Given the description of an element on the screen output the (x, y) to click on. 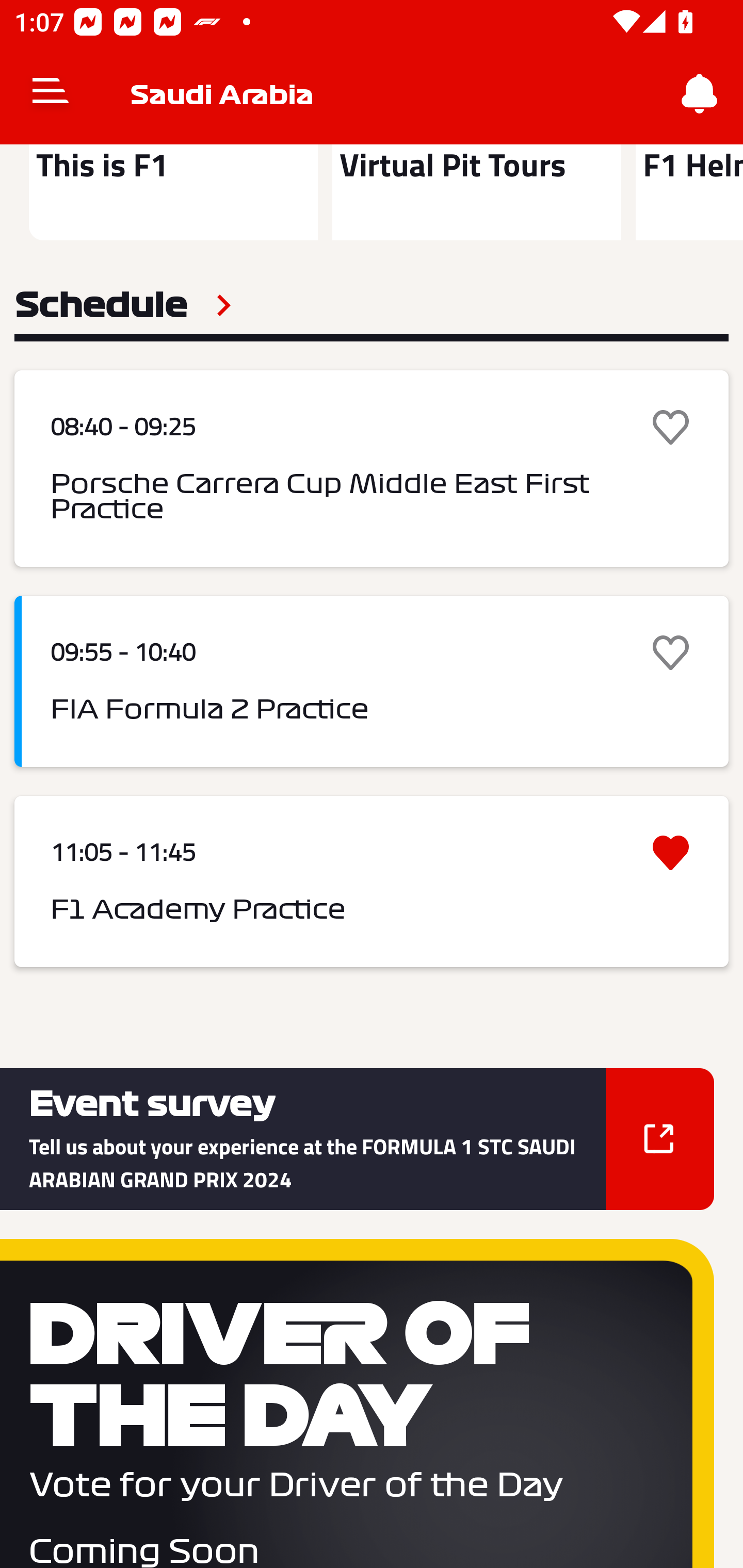
Navigate up (50, 93)
Notifications (699, 93)
This is F1 (173, 191)
Virtual Pit Tours (476, 191)
Schedule (122, 305)
09:55 - 10:40 FIA Formula 2 Practice (371, 680)
11:05 - 11:45 F1 Academy Practice (371, 881)
